Given the description of an element on the screen output the (x, y) to click on. 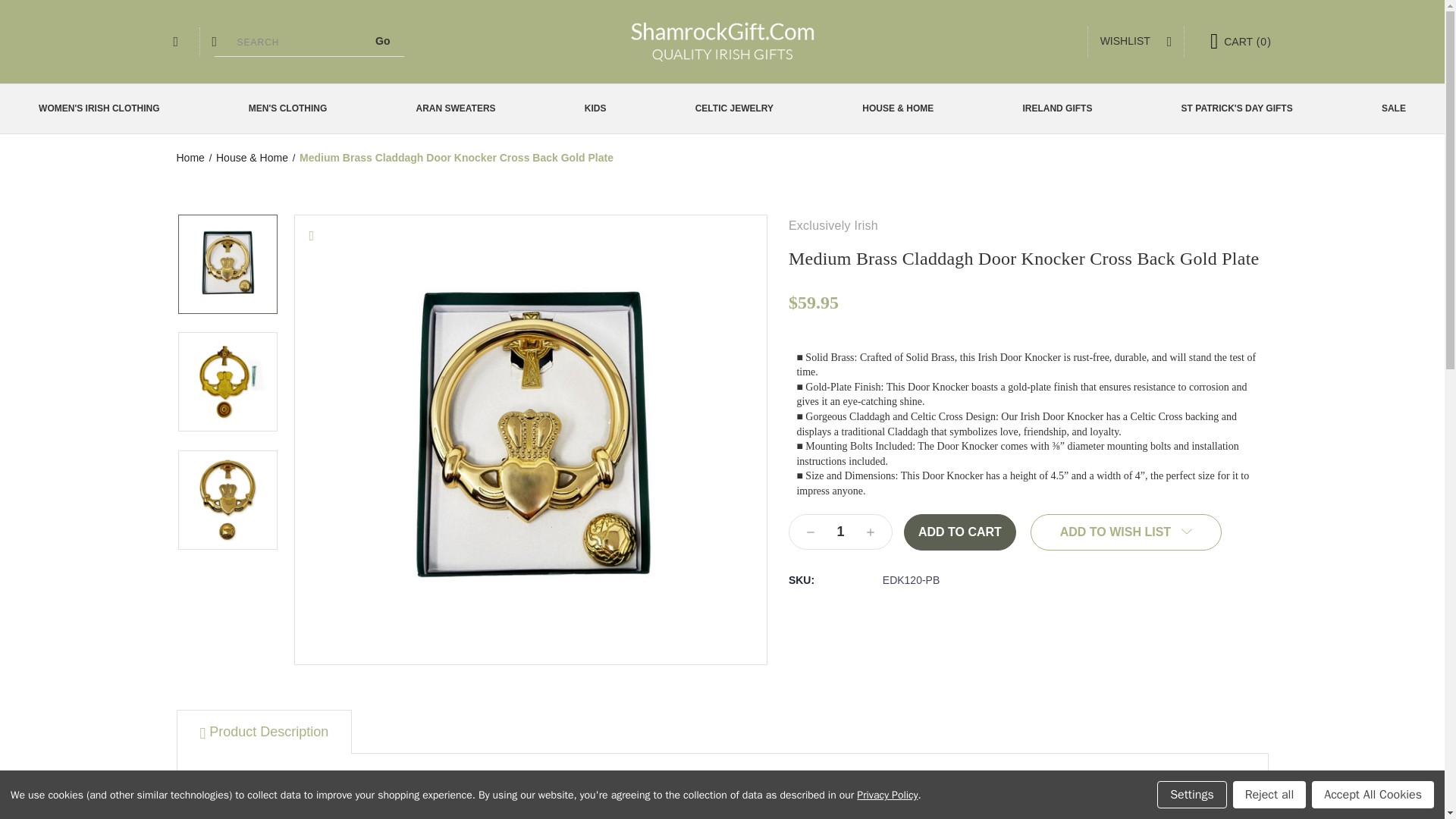
Shamrock Gift (721, 41)
WOMEN'S IRISH CLOTHING (104, 108)
Go (382, 40)
Go (382, 40)
WISHLIST (1136, 41)
MEN'S CLOTHING (293, 108)
KIDS (601, 108)
Add to Cart (960, 532)
CART 0 (1233, 41)
ARAN SWEATERS (462, 108)
1 (840, 531)
